Given the description of an element on the screen output the (x, y) to click on. 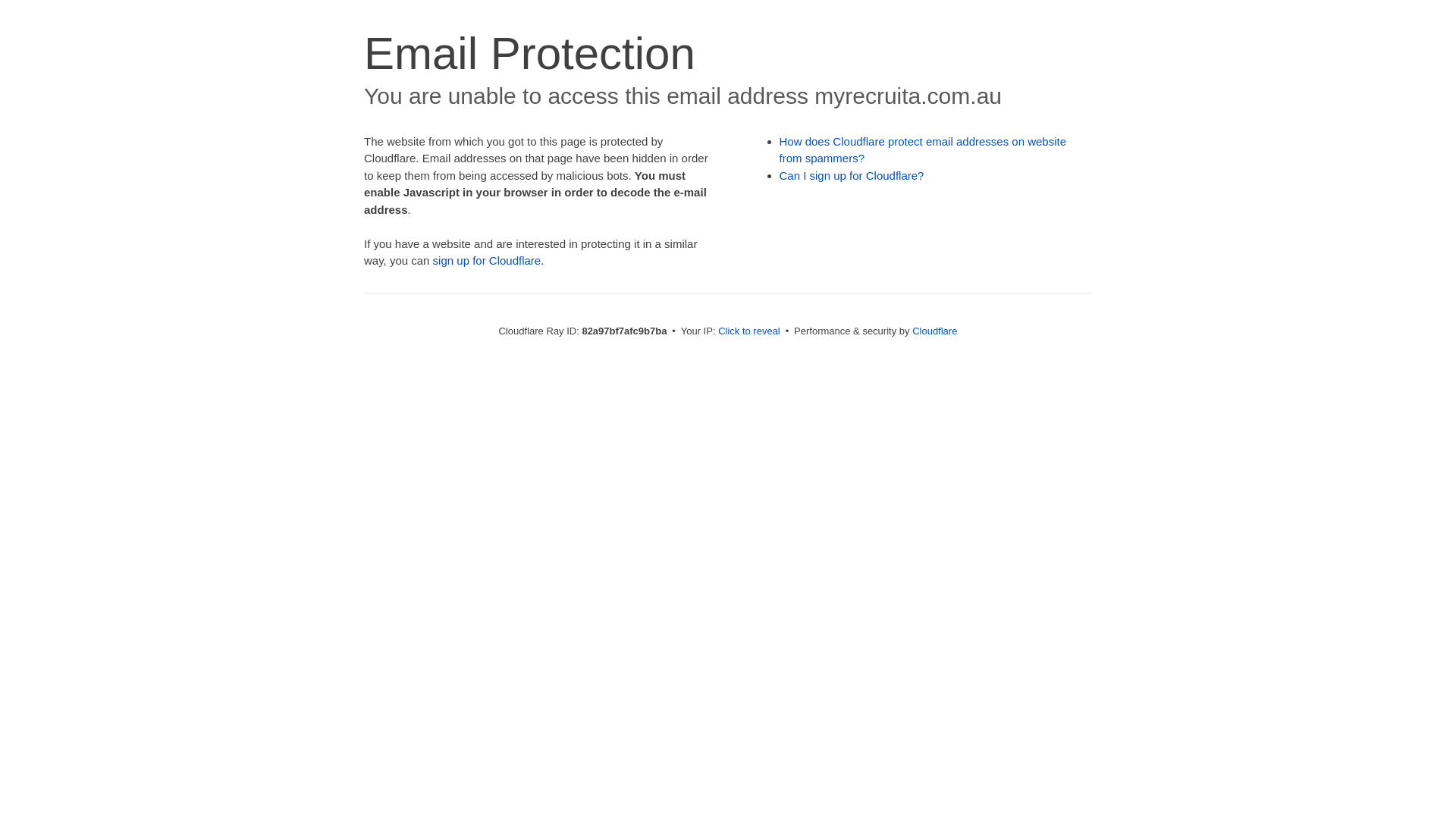
Can I sign up for Cloudflare? Element type: text (851, 175)
sign up for Cloudflare Element type: text (487, 260)
Click to reveal Element type: text (749, 330)
Cloudflare Element type: text (934, 330)
